Given the description of an element on the screen output the (x, y) to click on. 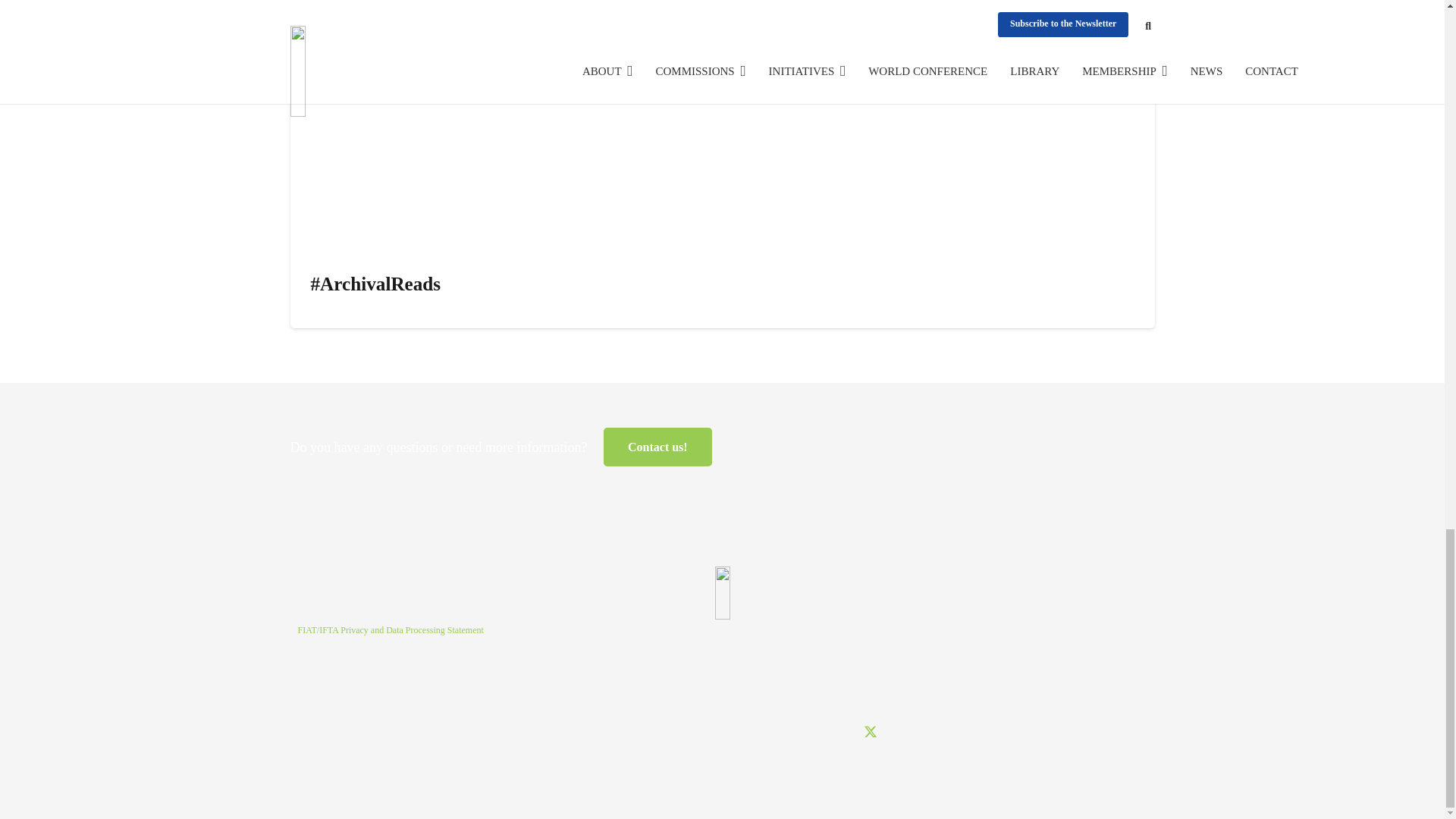
Privacy and Data Processing Statement (390, 629)
Twitter (869, 733)
CONTACT (657, 446)
